Given the description of an element on the screen output the (x, y) to click on. 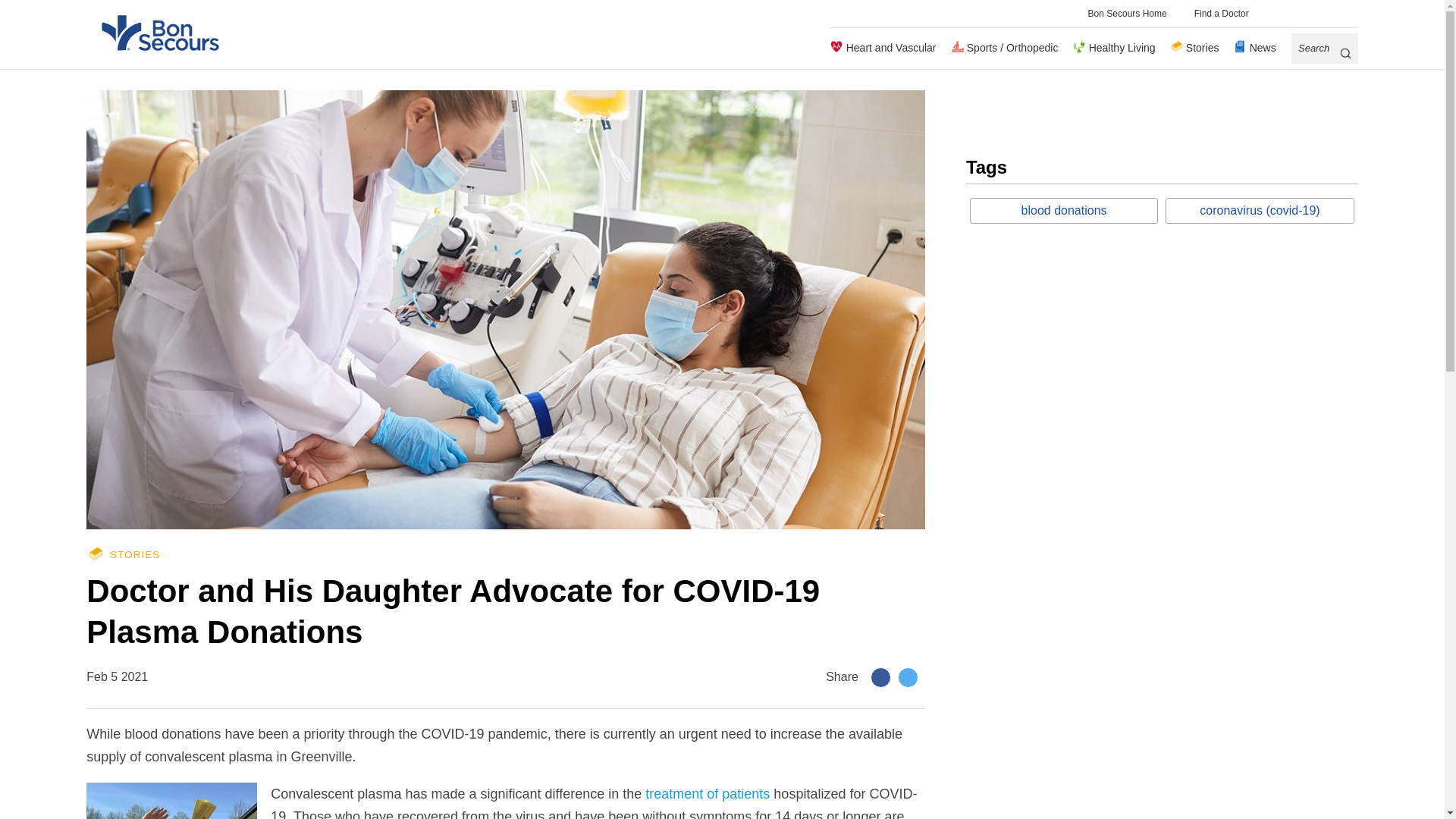
News (1253, 47)
Find a Doctor (1221, 13)
STORIES (504, 554)
Stories (1194, 47)
Healthy Living (1112, 47)
treatment of patients (707, 793)
Heart and Vascular (882, 47)
Bon Secours Home (1127, 13)
blood donations (1063, 210)
